Given the description of an element on the screen output the (x, y) to click on. 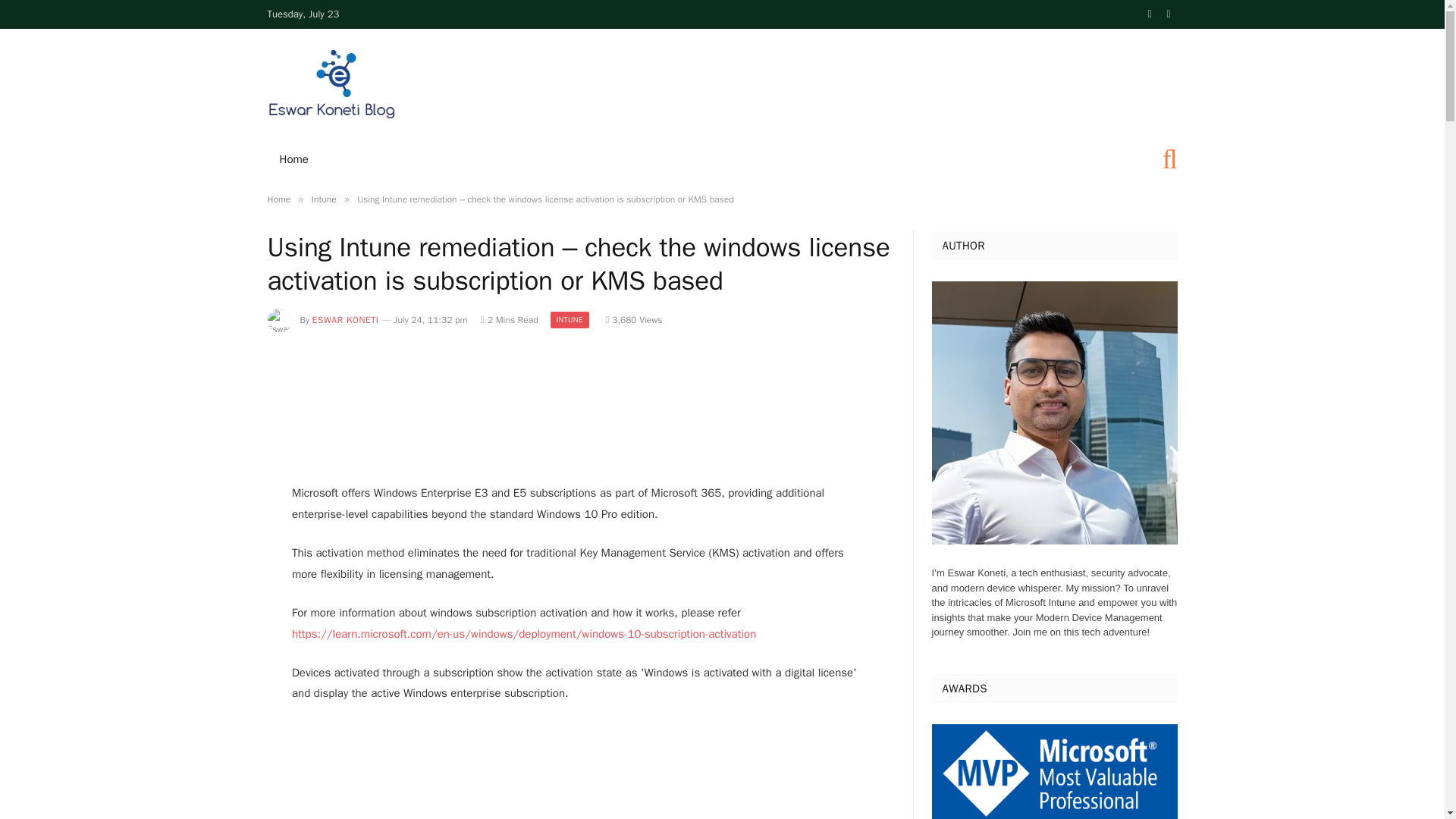
Home (293, 159)
3,680 Article Views (633, 319)
All about Microsoft Endpoint Manager (332, 84)
Advertisement (580, 408)
ESWAR KONETI (345, 319)
INTUNE (569, 320)
Home (277, 199)
Intune (323, 199)
Advertisement (900, 81)
Posts by Eswar Koneti (345, 319)
Advertisement (580, 765)
